Given the description of an element on the screen output the (x, y) to click on. 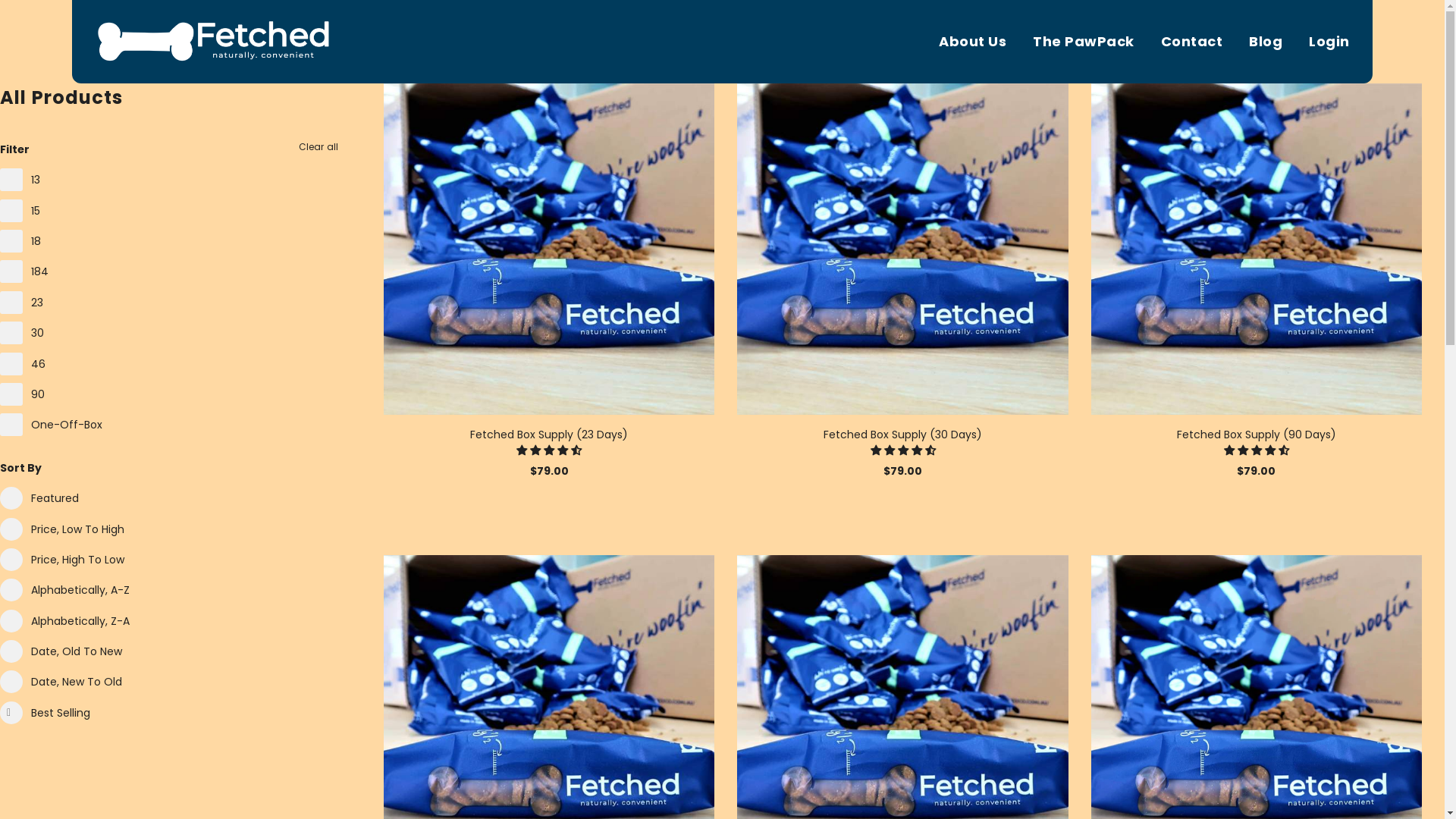
Fetched Box Supply (30 Days) Element type: text (902, 434)
Fetched Box Supply (30 Days) Element type: hover (902, 248)
Fetched Box Supply (23 Days) Element type: text (548, 434)
Blog Element type: text (1265, 41)
Contact Element type: text (1191, 41)
About Us Element type: text (972, 41)
Fetched Box Supply (23 Days) Element type: hover (548, 248)
The PawPack Element type: text (1083, 41)
Fetched Box Supply (90 Days) Element type: text (1256, 434)
Clear all Element type: text (318, 146)
Login Element type: text (1323, 41)
Fetched Box Supply (90 Days) Element type: hover (1256, 248)
